Given the description of an element on the screen output the (x, y) to click on. 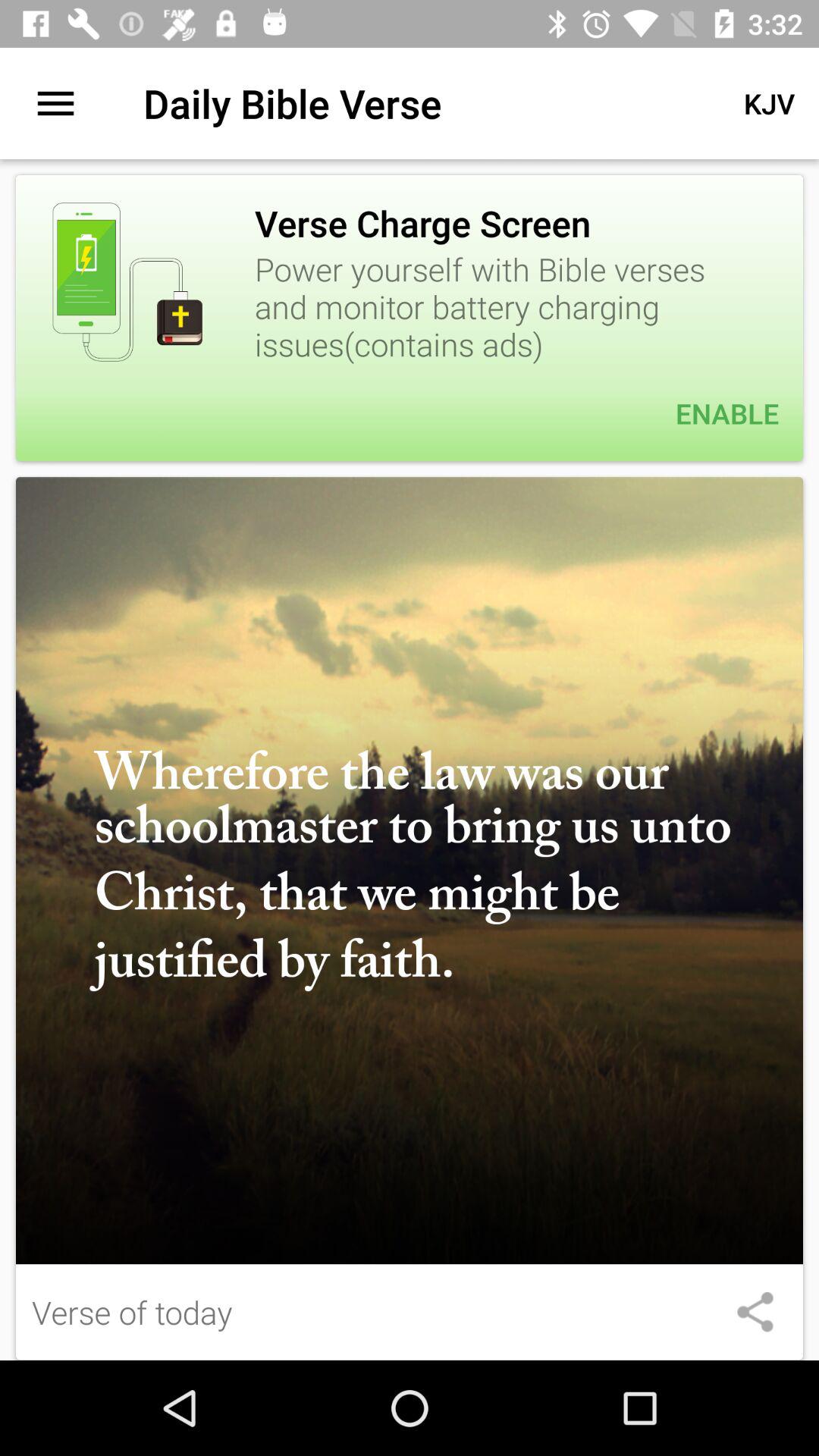
tap item at the bottom right corner (755, 1311)
